Given the description of an element on the screen output the (x, y) to click on. 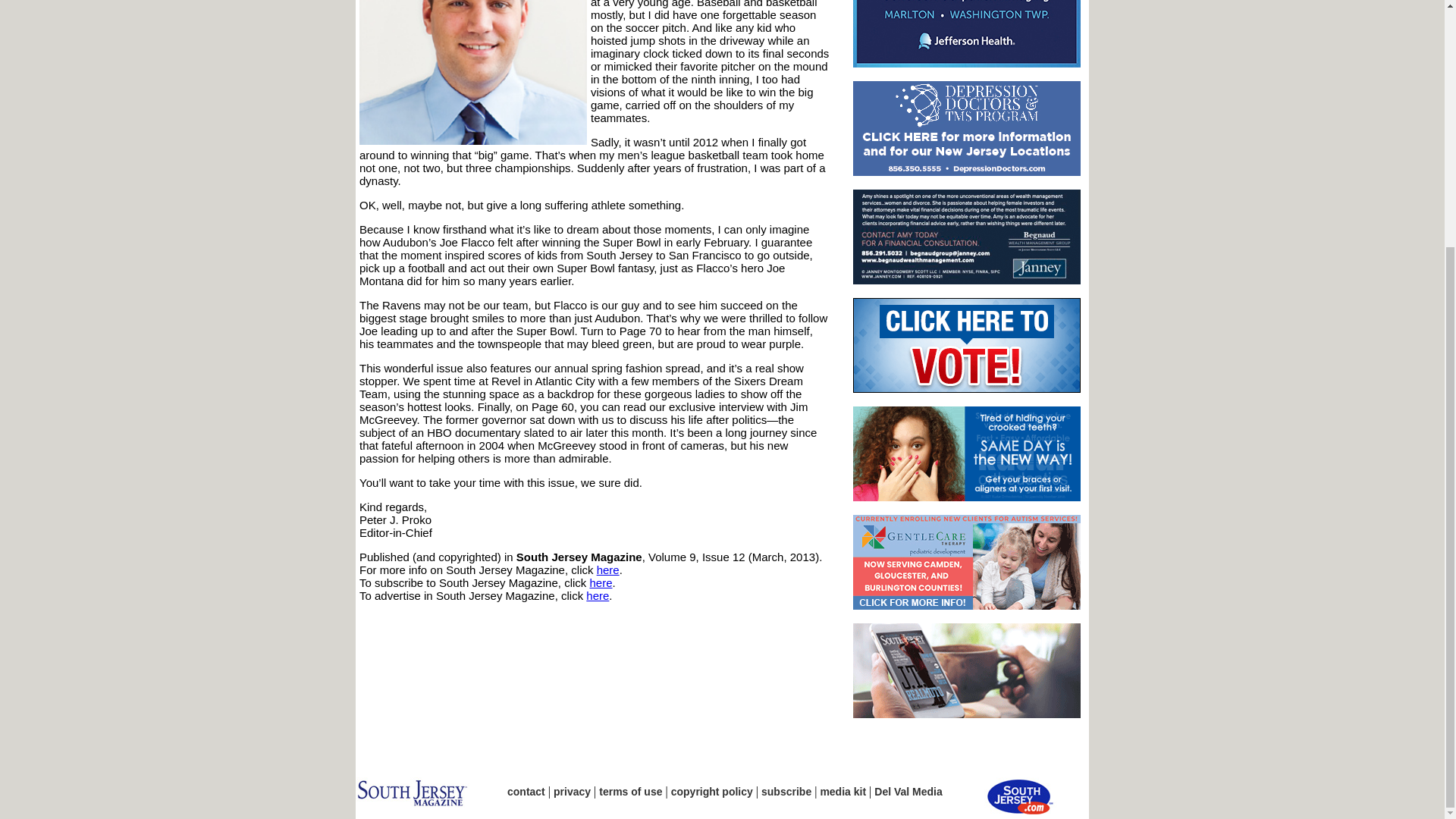
here (600, 582)
subscribe (785, 791)
media kit (842, 791)
terms of use (630, 791)
privacy (572, 791)
Del Val Media (908, 791)
here (597, 594)
copyright policy (711, 791)
here (608, 569)
contact (525, 791)
